Given the description of an element on the screen output the (x, y) to click on. 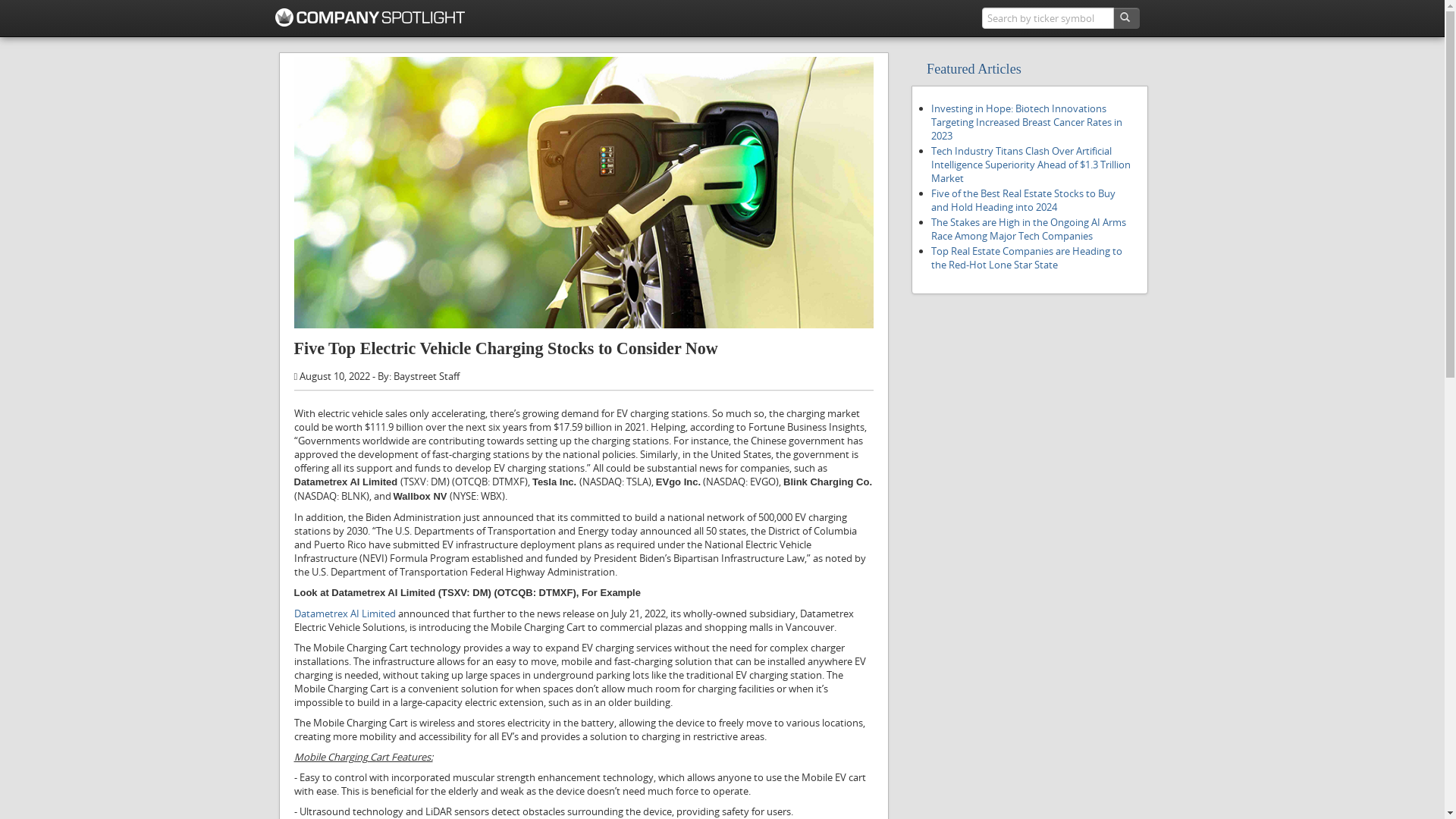
Datametrex AI Limited Element type: text (344, 613)
Company Spotlight Element type: text (369, 17)
